Given the description of an element on the screen output the (x, y) to click on. 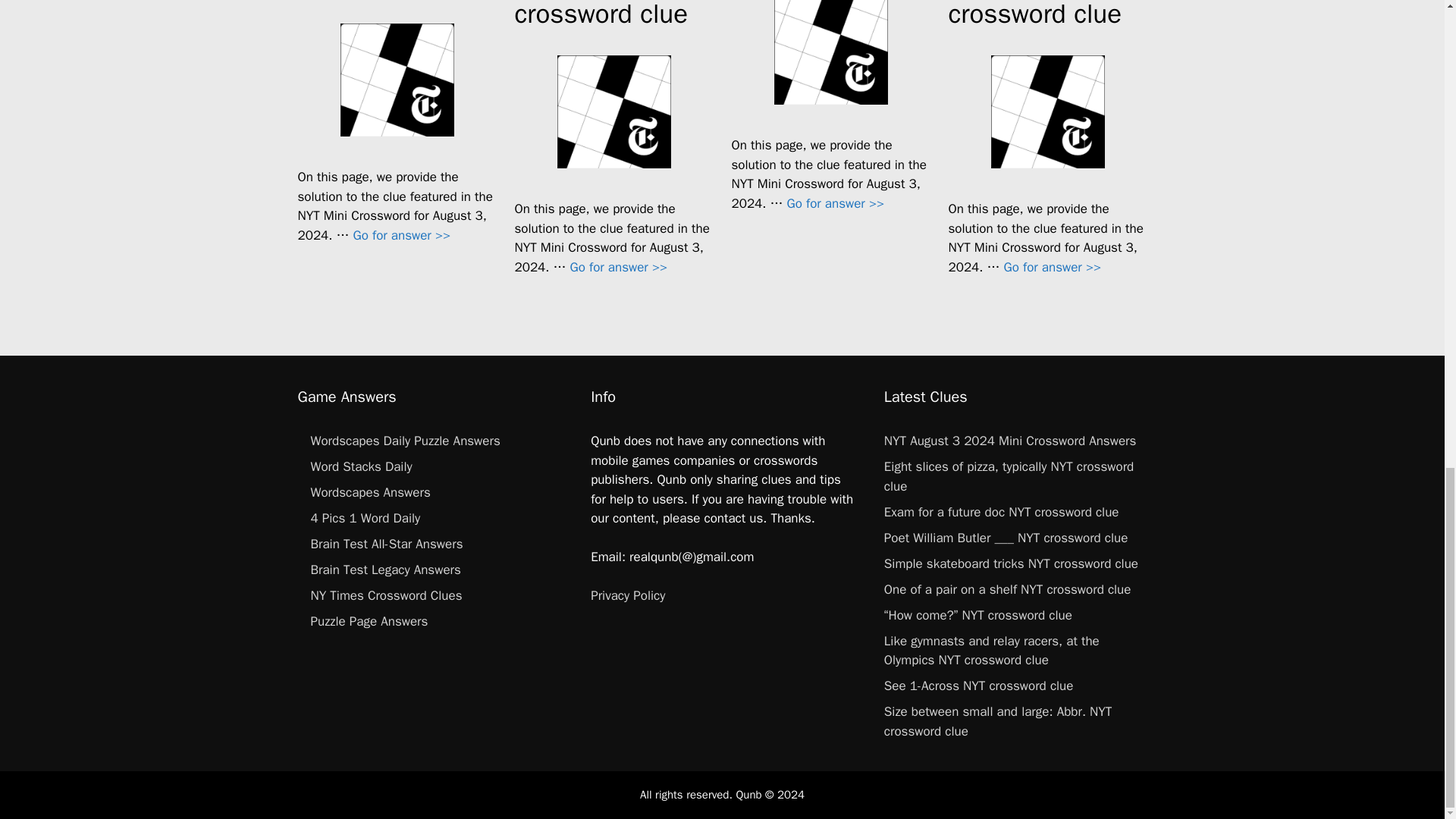
Dwellings made from animal hides NYT crossword clue (1053, 267)
Size between small and large: Abbr. NYT crossword clue (619, 267)
See 1-Across NYT crossword clue (402, 235)
Pours down NYT crossword clue (836, 203)
